Given the description of an element on the screen output the (x, y) to click on. 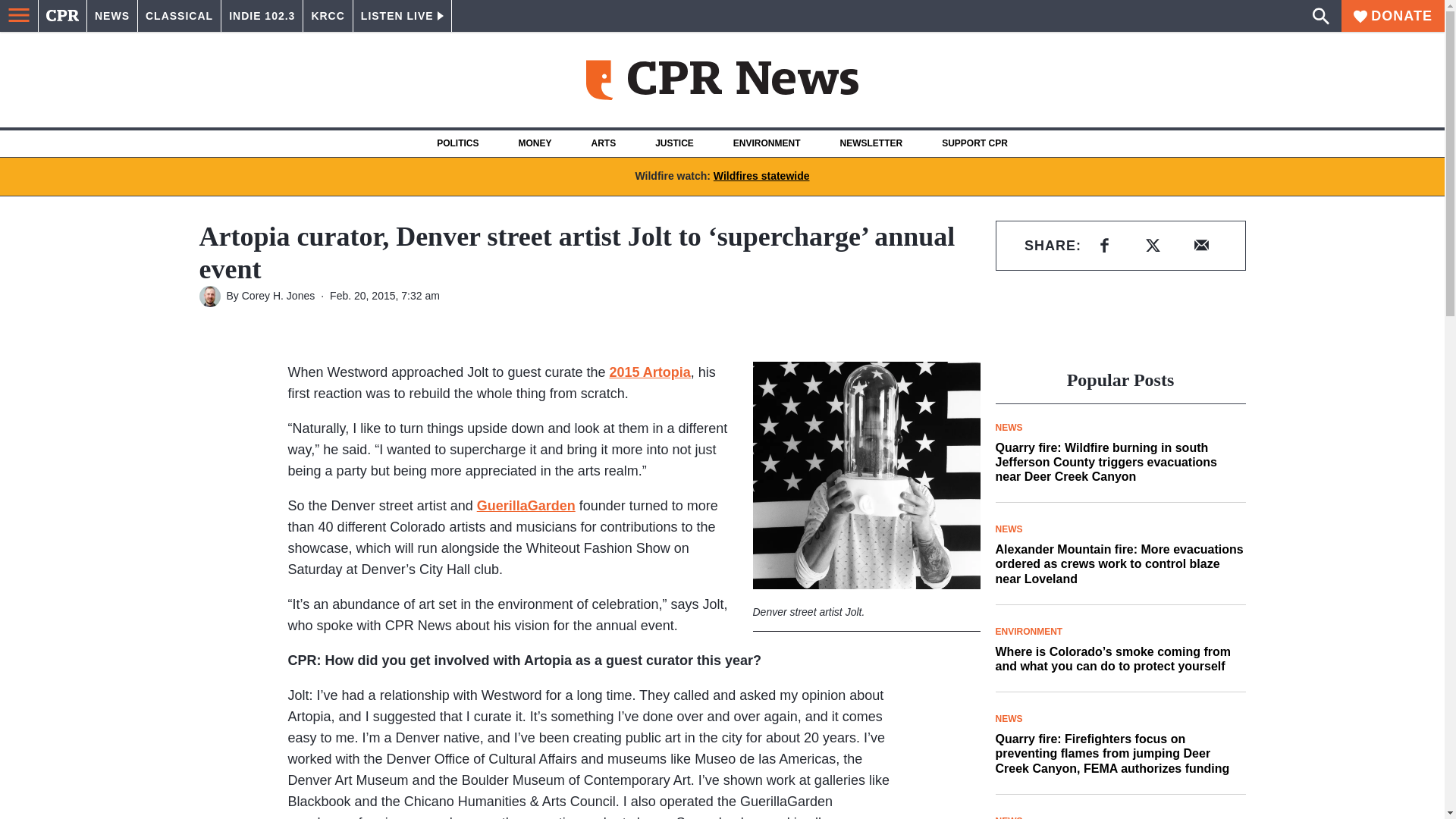
CLASSICAL (179, 15)
INDIE 102.3 (261, 15)
LISTEN LIVE (402, 15)
KRCC (327, 15)
NEWS (111, 15)
